Given the description of an element on the screen output the (x, y) to click on. 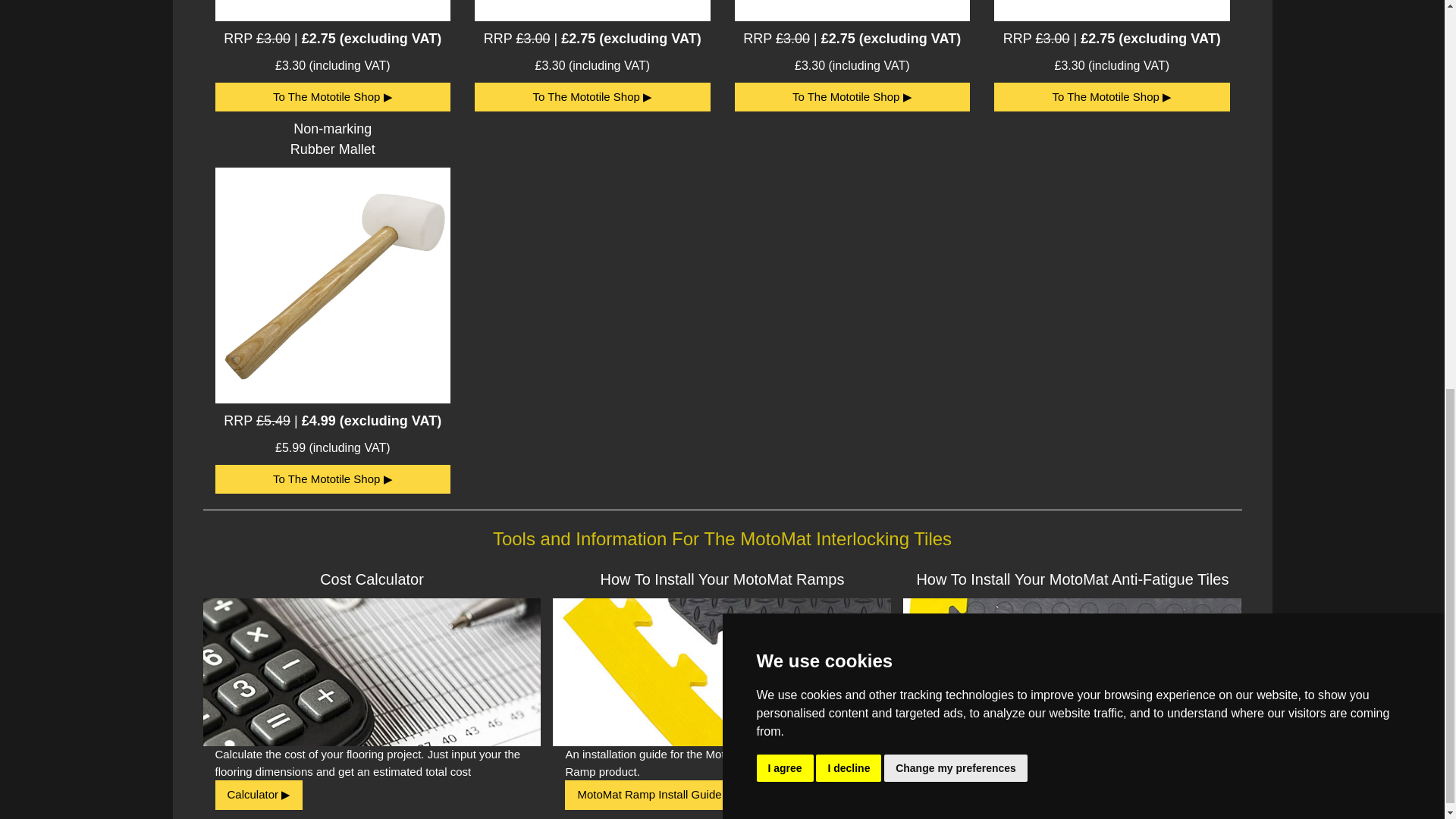
I decline (847, 18)
Image Of Single Black MALE Motomat Interlocking Tile (1112, 97)
Change my preferences (955, 18)
I agree (785, 18)
Get An Online MotoMat Anti-Fatigue Floor Quote  (258, 794)
Image Of Single Yellow MALE Motomat Interlocking Tile (333, 97)
Installation Guide For MotoMat Anti-Fatigue Tiles (988, 794)
Image Of Single Motolock Yellow Cointop Interlocking Tile (333, 479)
Image Of Single Yellow FEMALE Motomat Interlocking Tile (592, 97)
Installation Guide For MotoMat Anti-Fatigue Ramps (654, 794)
Image Of Single Black FEMALE Motomat Interlocking Tile (851, 97)
